Given the description of an element on the screen output the (x, y) to click on. 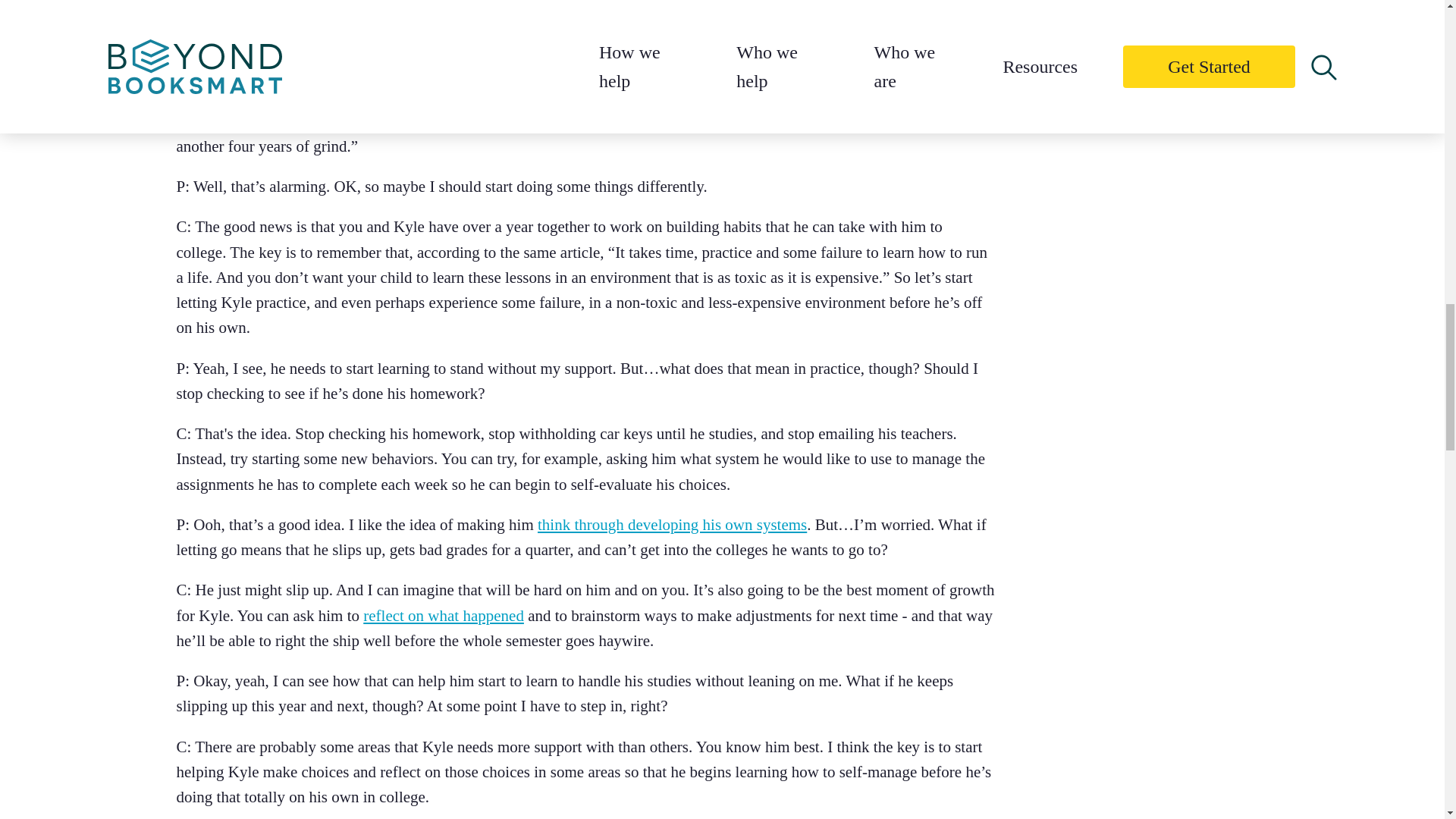
think through developing his own systems (671, 524)
reflect on what happened (443, 615)
